Given the description of an element on the screen output the (x, y) to click on. 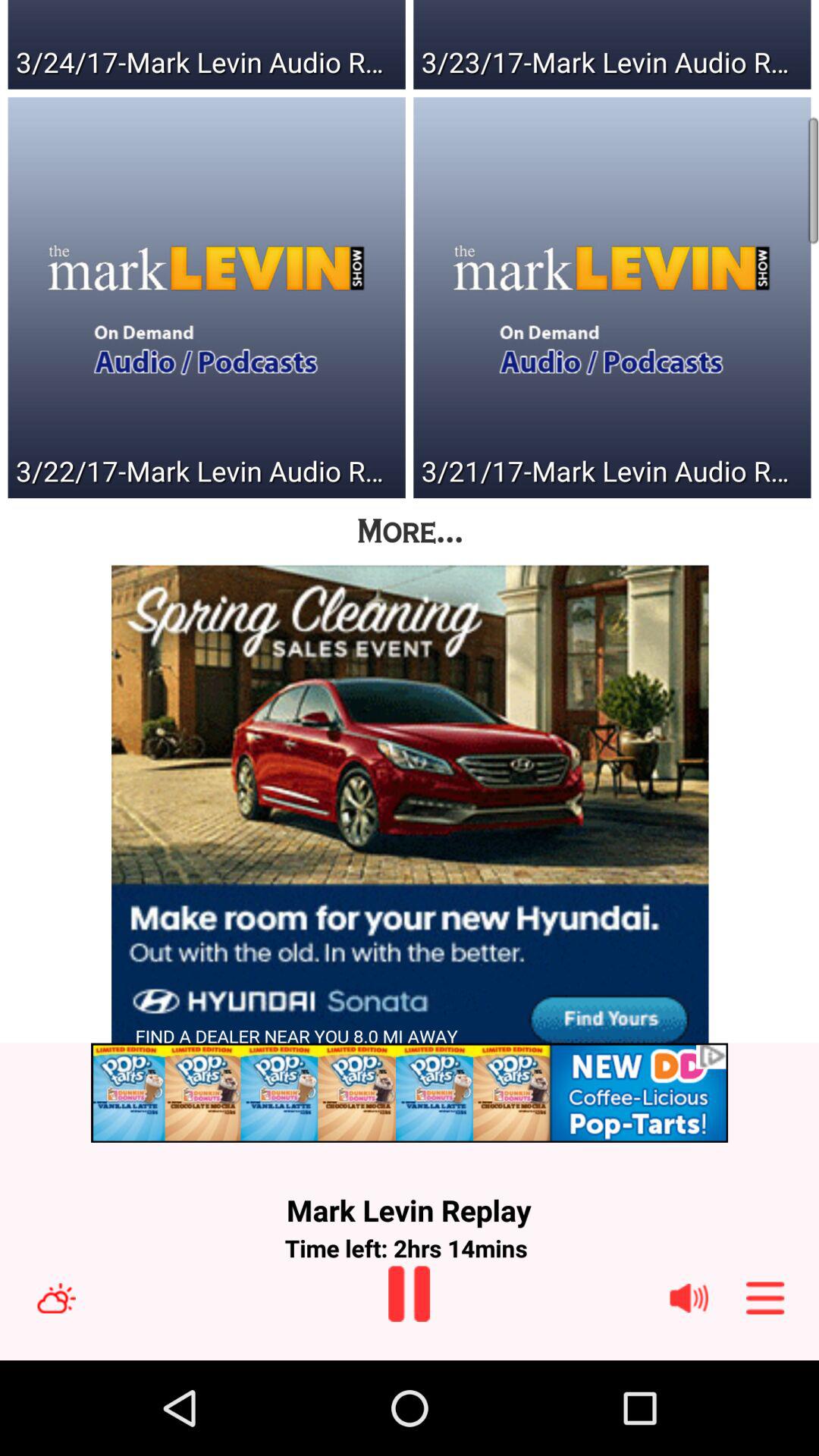
advertisement banner (409, 1092)
